Given the description of an element on the screen output the (x, y) to click on. 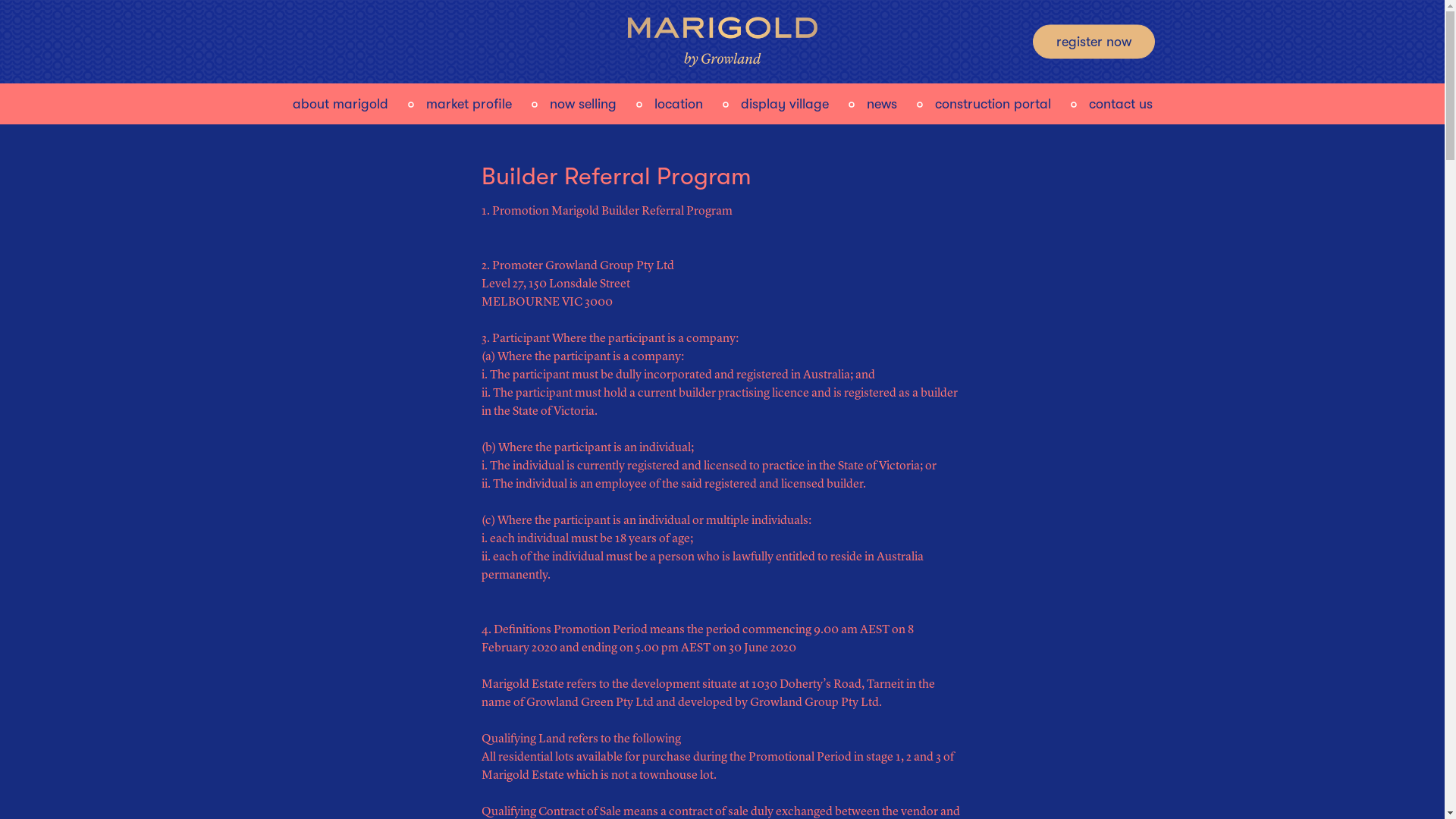
about marigold Element type: text (340, 100)
now selling Element type: text (582, 100)
news Element type: text (881, 100)
market profile Element type: text (468, 100)
location Element type: text (677, 100)
contact us Element type: text (1120, 100)
construction portal Element type: text (992, 100)
register now Element type: text (1093, 41)
display village Element type: text (784, 100)
